Given the description of an element on the screen output the (x, y) to click on. 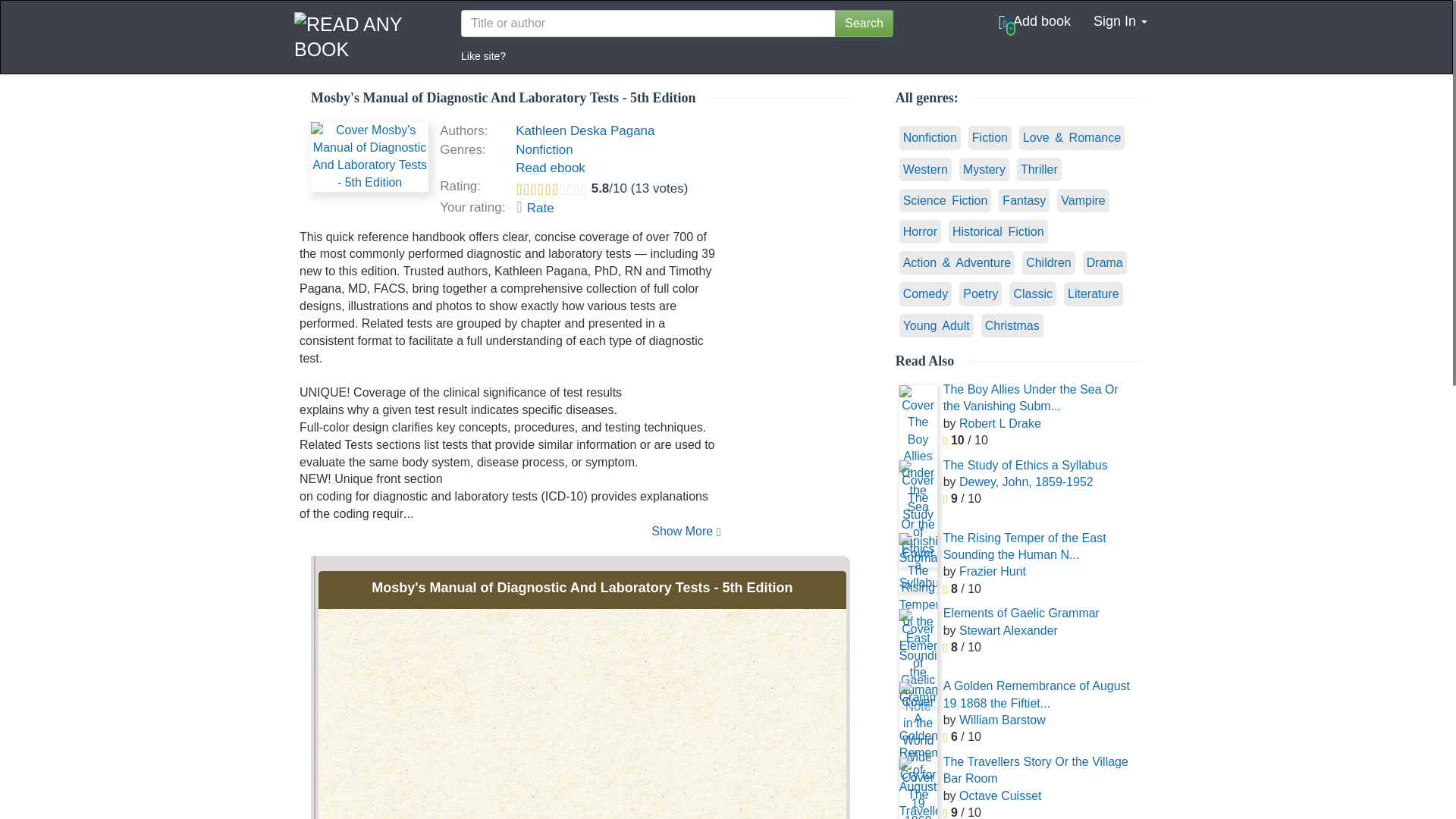
Add book (1034, 21)
Show More (509, 531)
Read ebook (550, 167)
Kathleen Deska Pagana (584, 130)
Nonfiction (544, 149)
Sign In (1119, 21)
Nonfiction books (544, 149)
Add book (1034, 21)
Search (863, 22)
Rate (534, 208)
Author Kathleen Deska Pagana (584, 130)
Rated ! (534, 208)
